Given the description of an element on the screen output the (x, y) to click on. 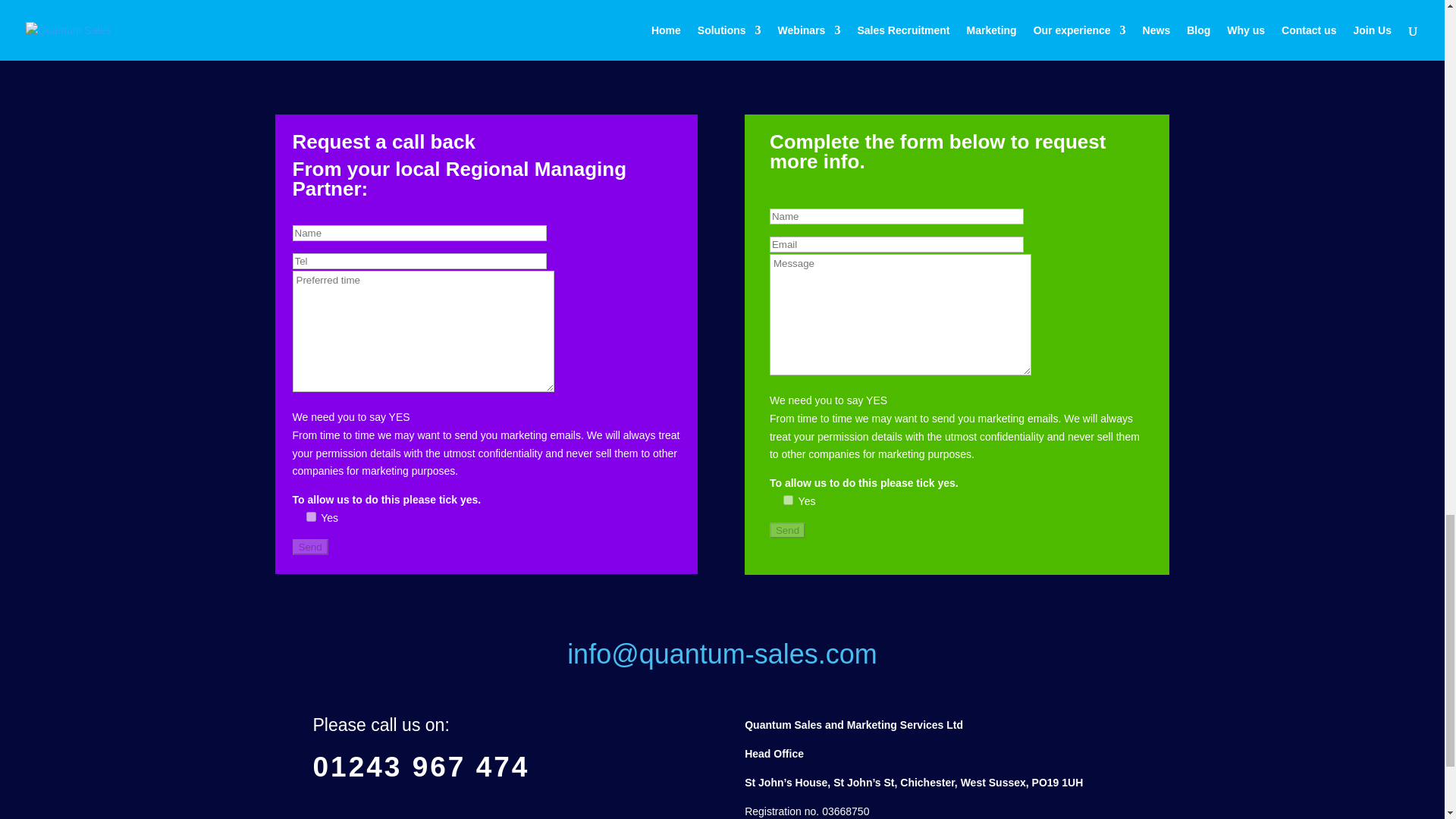
Yes (310, 516)
Send (787, 530)
Send (310, 546)
Yes (788, 500)
Send (787, 530)
Send (310, 546)
